Given the description of an element on the screen output the (x, y) to click on. 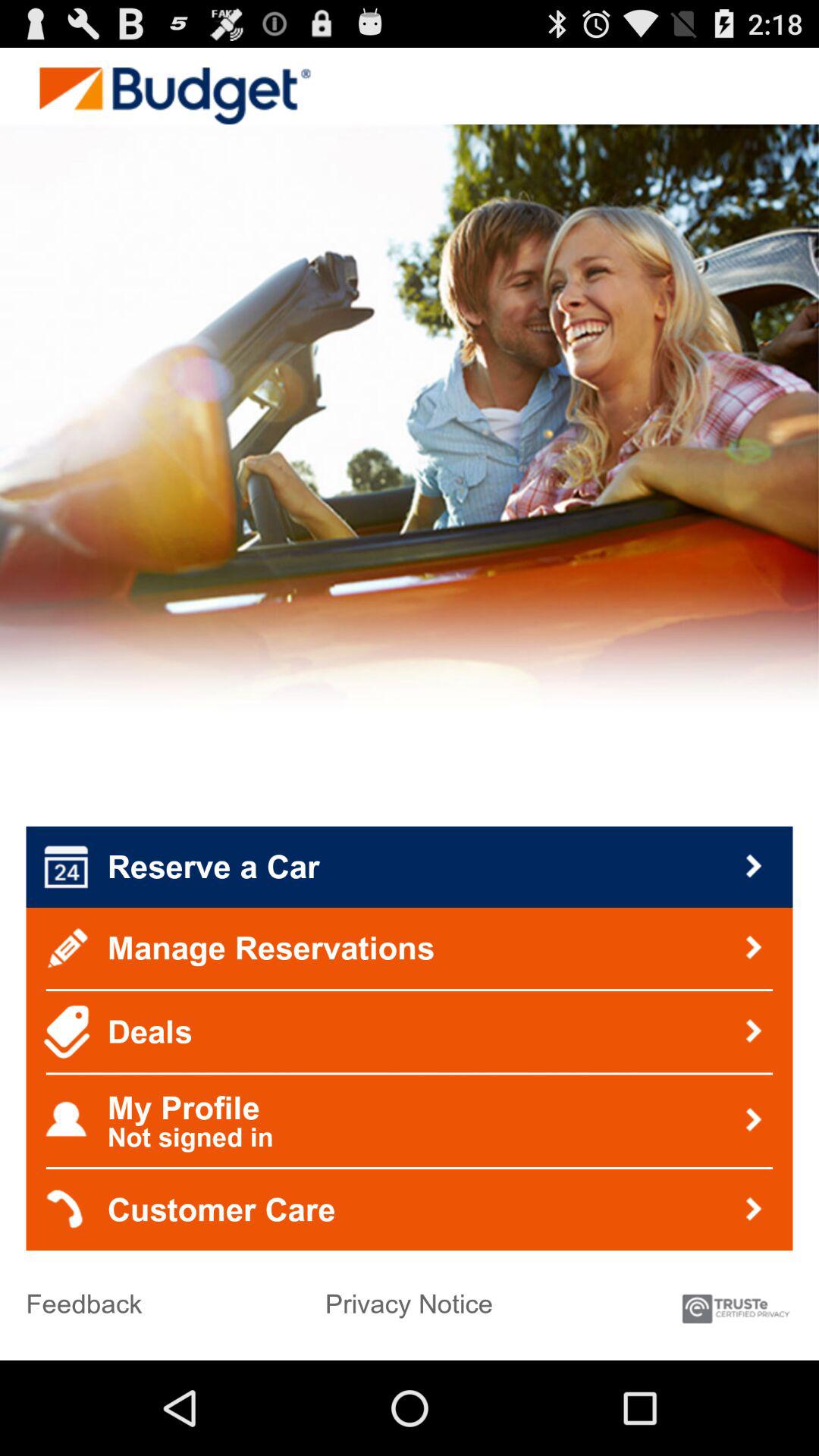
launch customer care item (409, 1209)
